Given the description of an element on the screen output the (x, y) to click on. 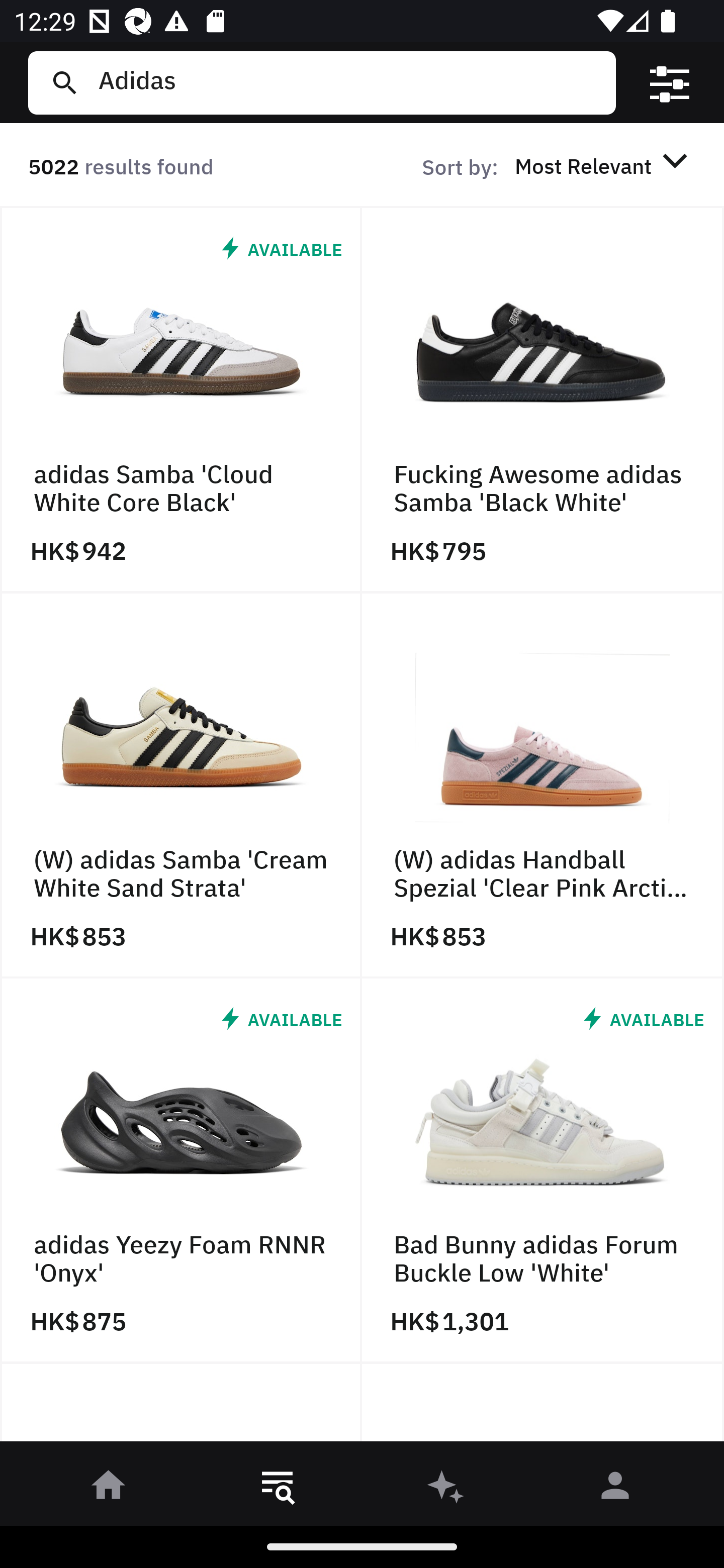
Adidas (349, 82)
 (669, 82)
Most Relevant  (604, 165)
Fucking Awesome adidas Samba 'Black White' HK$ 795 (543, 399)
(W) adidas Samba 'Cream White Sand Strata' HK$ 853 (181, 785)
 AVAILABLE adidas Yeezy Foam RNNR 'Onyx' HK$ 875 (181, 1171)
󰋜 (108, 1488)
󱎸 (277, 1488)
󰫢 (446, 1488)
󰀄 (615, 1488)
